Given the description of an element on the screen output the (x, y) to click on. 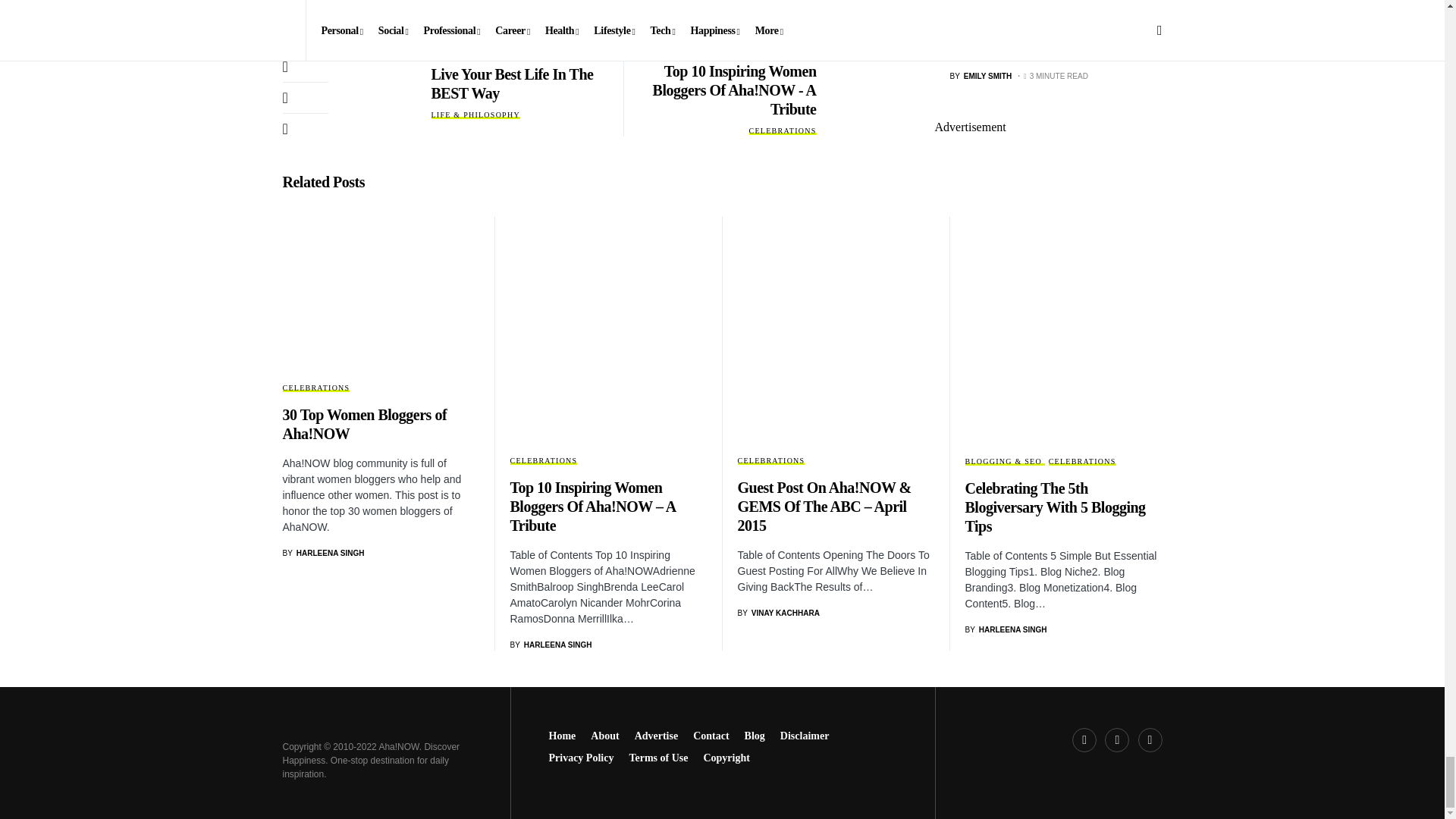
View all posts by Harleena Singh (550, 644)
View all posts by Vinay Kachhara (777, 613)
View all posts by Harleena Singh (323, 552)
View all posts by Harleena Singh (1004, 629)
